Given the description of an element on the screen output the (x, y) to click on. 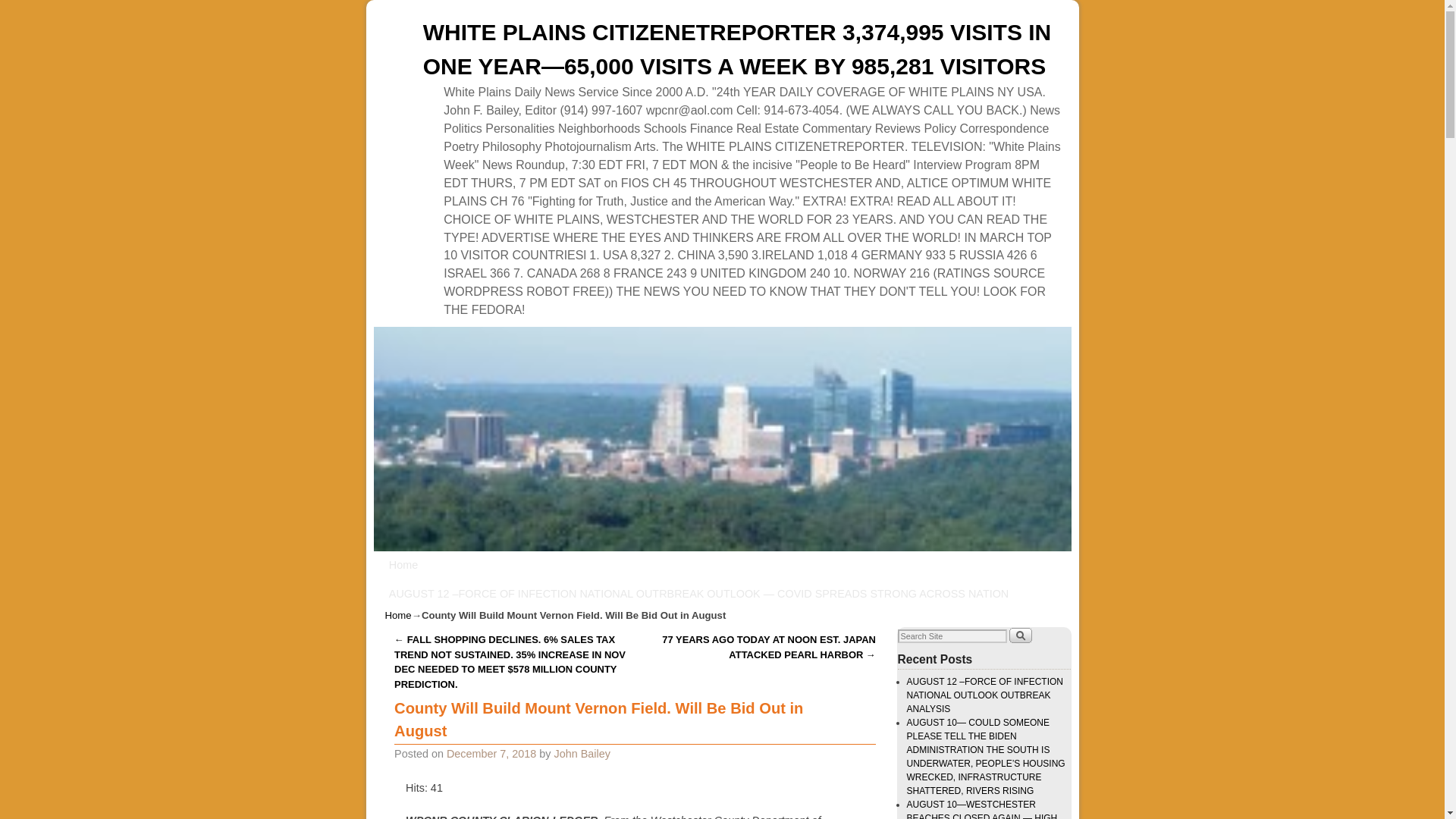
Skip to secondary content (460, 564)
Home (398, 614)
8:02 am (490, 753)
Skip to primary content (453, 564)
View all posts by John Bailey (582, 753)
John Bailey (582, 753)
Home (403, 564)
December 7, 2018 (490, 753)
